Given the description of an element on the screen output the (x, y) to click on. 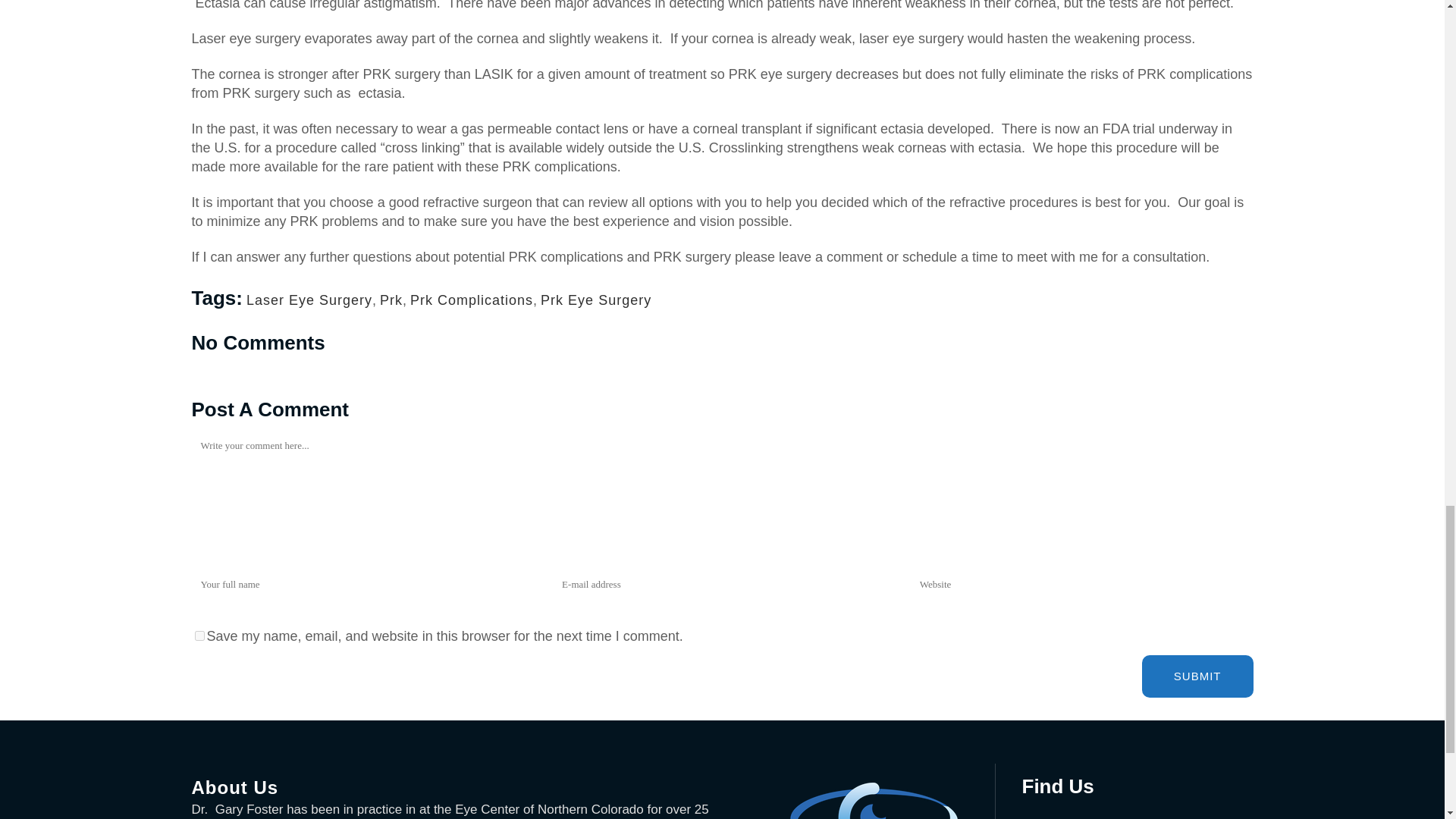
Submit (1197, 676)
yes (198, 635)
